Given the description of an element on the screen output the (x, y) to click on. 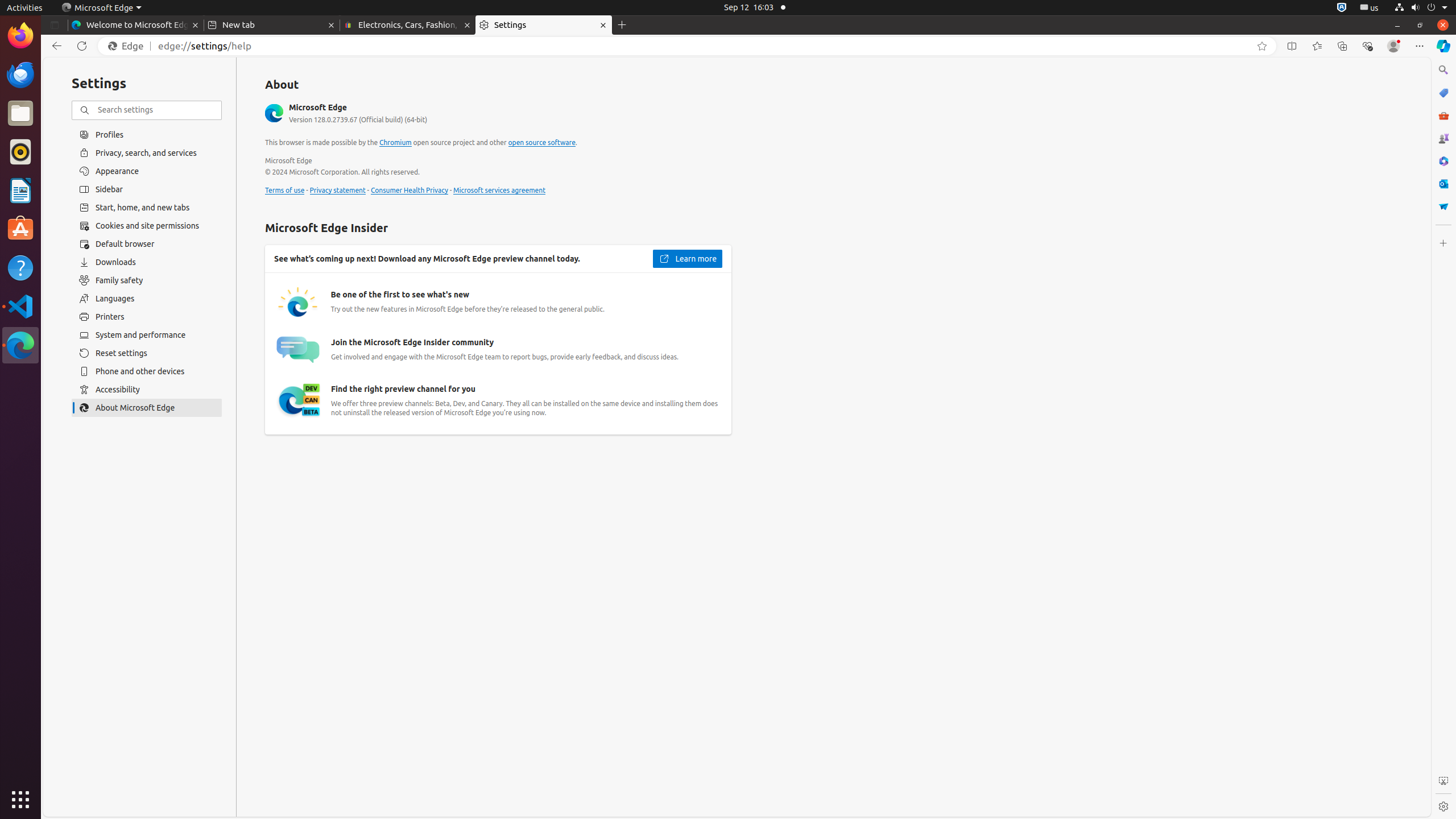
Cookies and site permissions Element type: tree-item (146, 225)
Close tab Element type: push-button (195, 25)
Microsoft Edge Element type: menu (101, 7)
Accessibility Element type: tree-item (146, 389)
Browser essentials Element type: push-button (1366, 45)
